Given the description of an element on the screen output the (x, y) to click on. 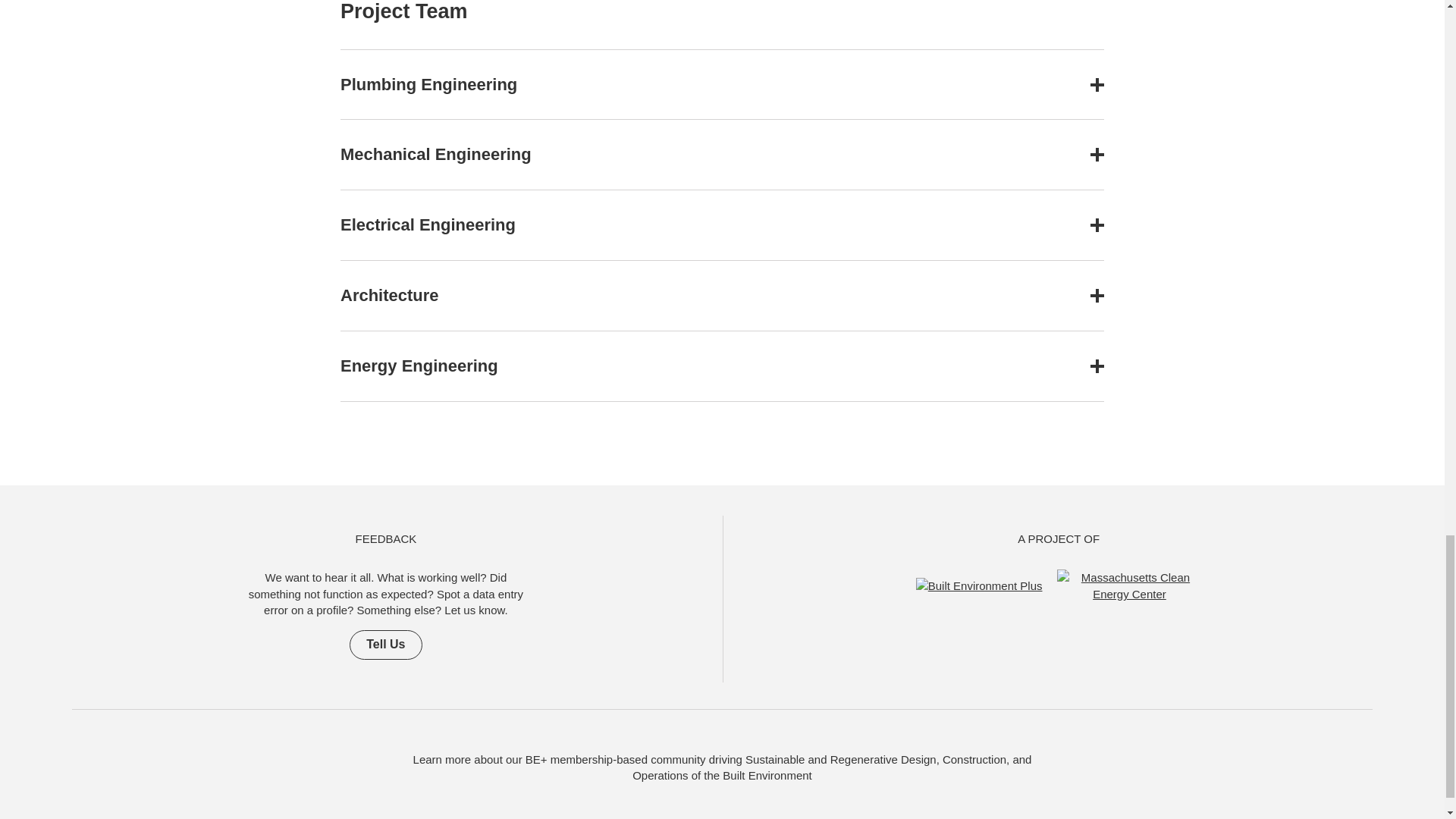
Tell Us (385, 644)
